Given the description of an element on the screen output the (x, y) to click on. 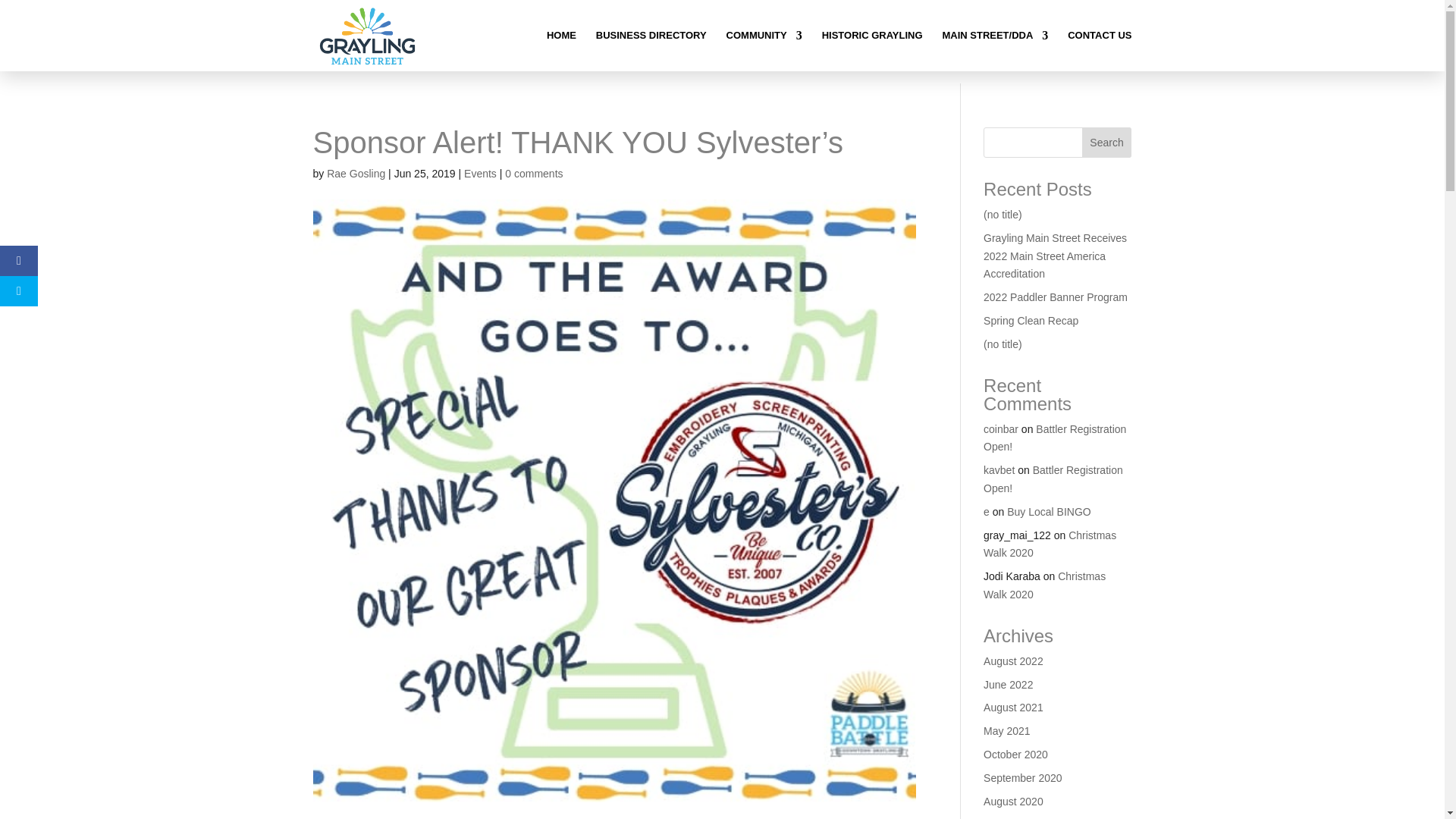
Rae Gosling (355, 173)
Christmas Walk 2020 (1050, 544)
CONTACT US (1099, 50)
August 2022 (1013, 661)
Battler Registration Open! (1053, 479)
Events (480, 173)
coinbar (1000, 428)
Spring Clean Recap (1031, 320)
Posts by Rae Gosling (355, 173)
